Given the description of an element on the screen output the (x, y) to click on. 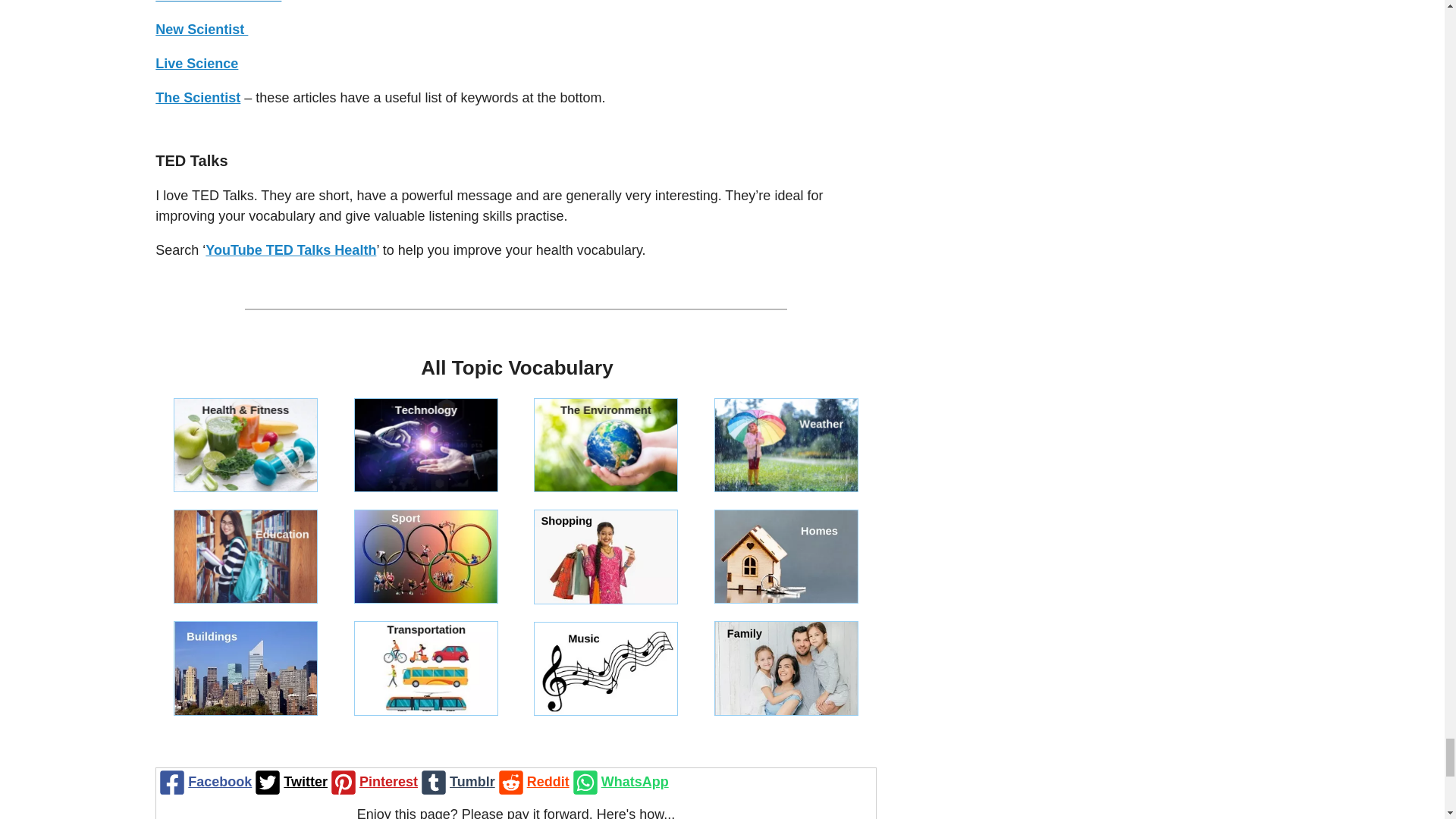
YouTube TED Talks Health (290, 249)
New Scientist  (201, 29)
The Scientist (197, 97)
Pinterest (372, 782)
Facebook (203, 782)
Tumblr (456, 782)
Reddit (532, 782)
Twitter (289, 782)
Live Science (196, 63)
WhatsApp (618, 782)
